Given the description of an element on the screen output the (x, y) to click on. 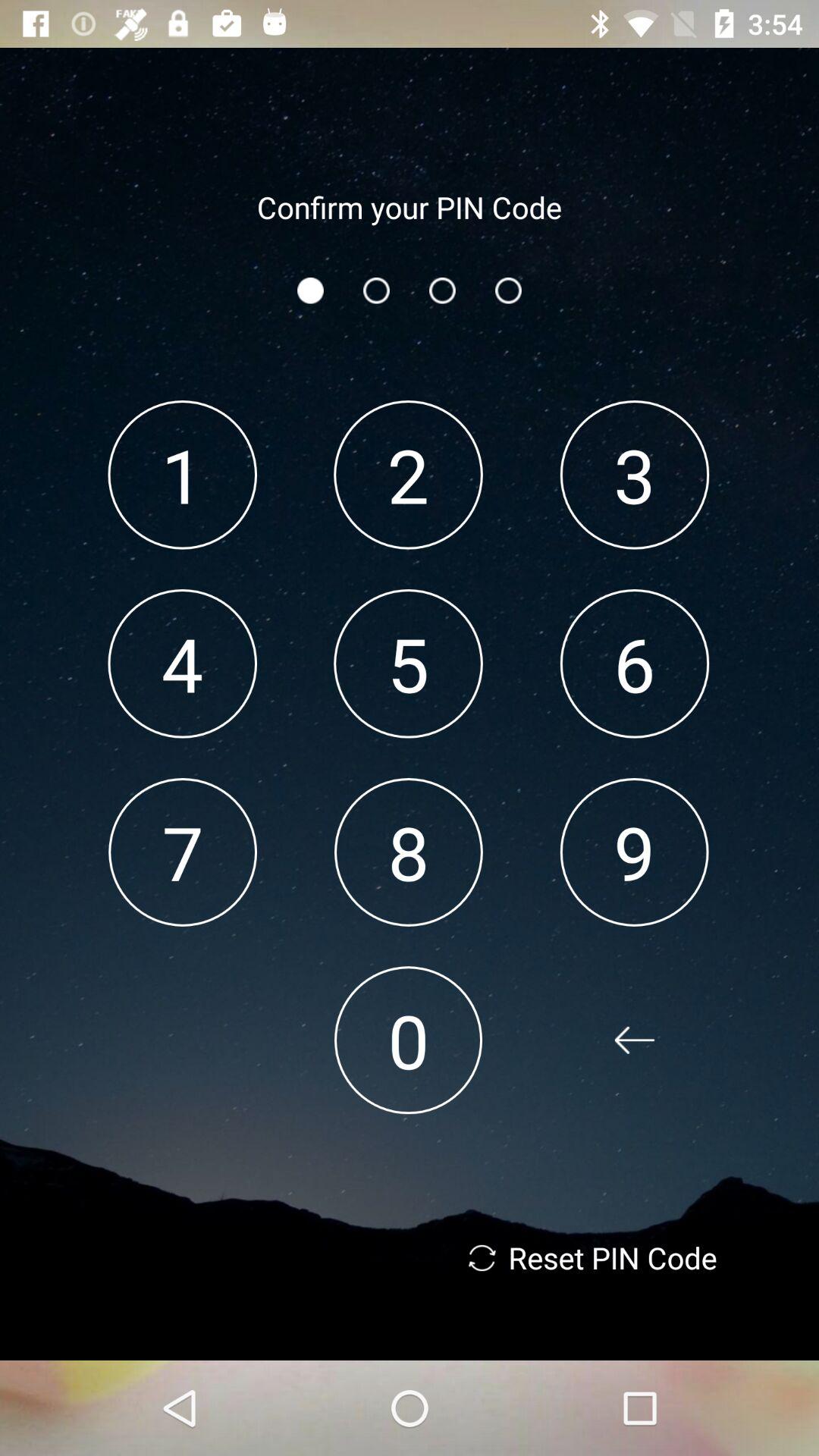
launch the 6 item (634, 663)
